Given the description of an element on the screen output the (x, y) to click on. 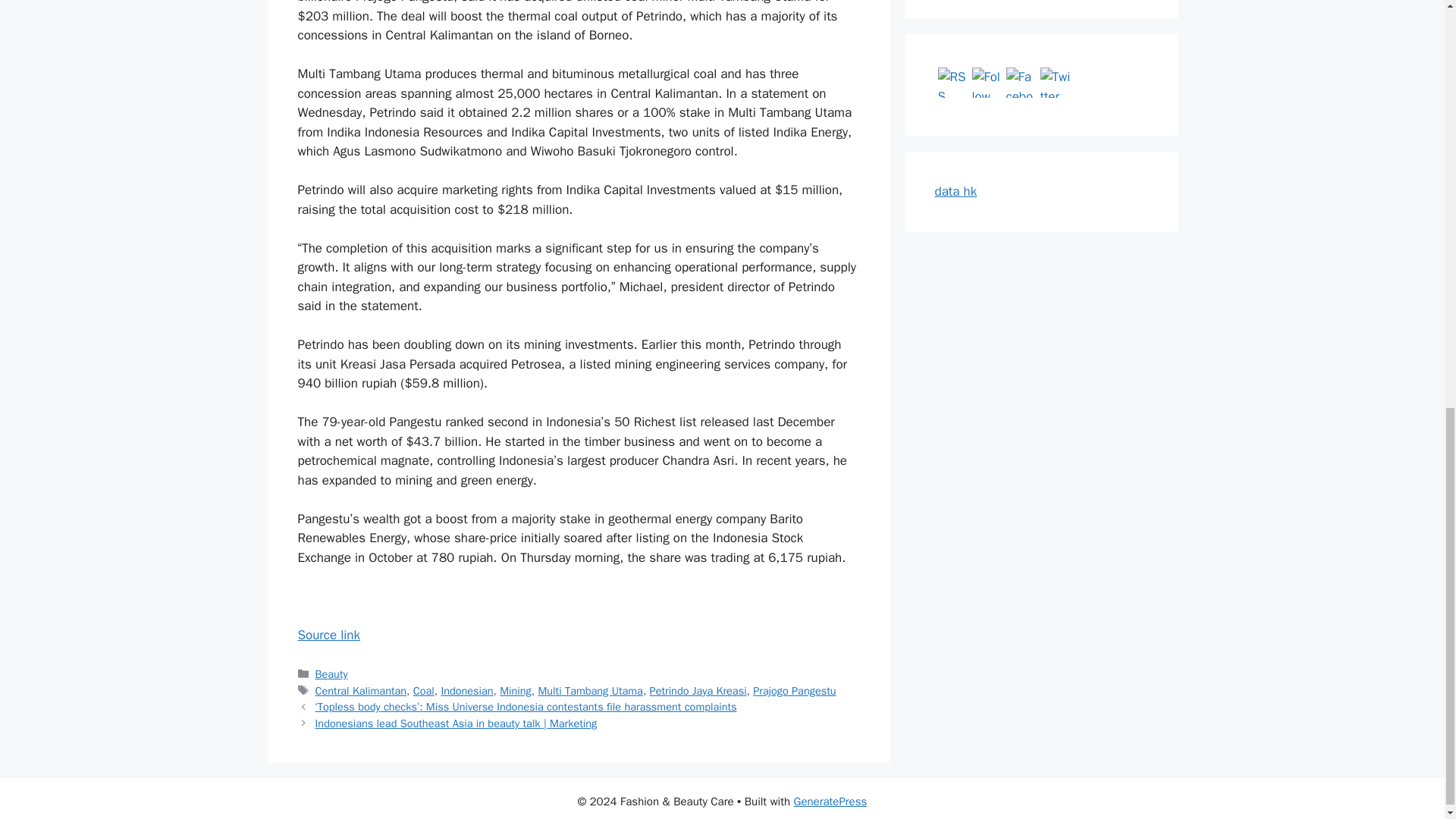
Multi Tambang Utama (589, 690)
Mining (515, 690)
Indonesian (467, 690)
Coal (423, 690)
Twitter (1055, 82)
Petrindo Jaya Kreasi (697, 690)
Beauty (331, 673)
RSS (952, 82)
Prajogo Pangestu (793, 690)
Follow by Email (987, 82)
